Given the description of an element on the screen output the (x, y) to click on. 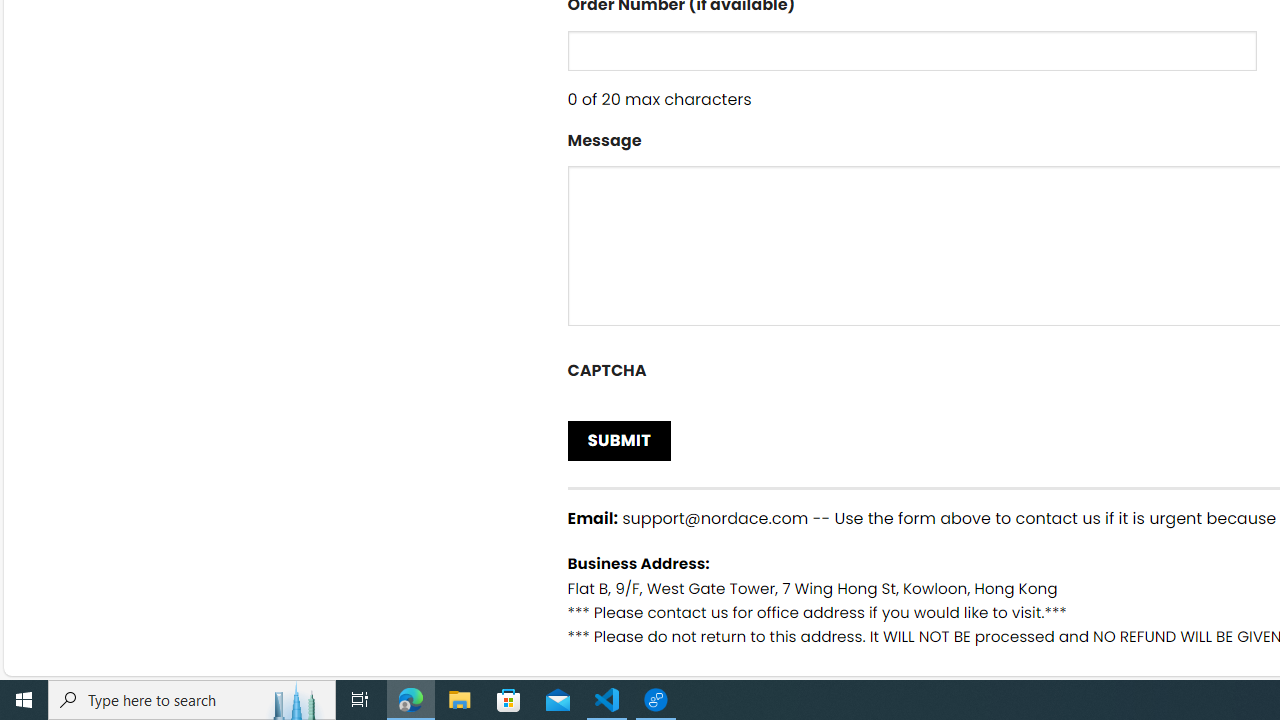
Order Number (if available) (911, 50)
Submit (619, 439)
